Given the description of an element on the screen output the (x, y) to click on. 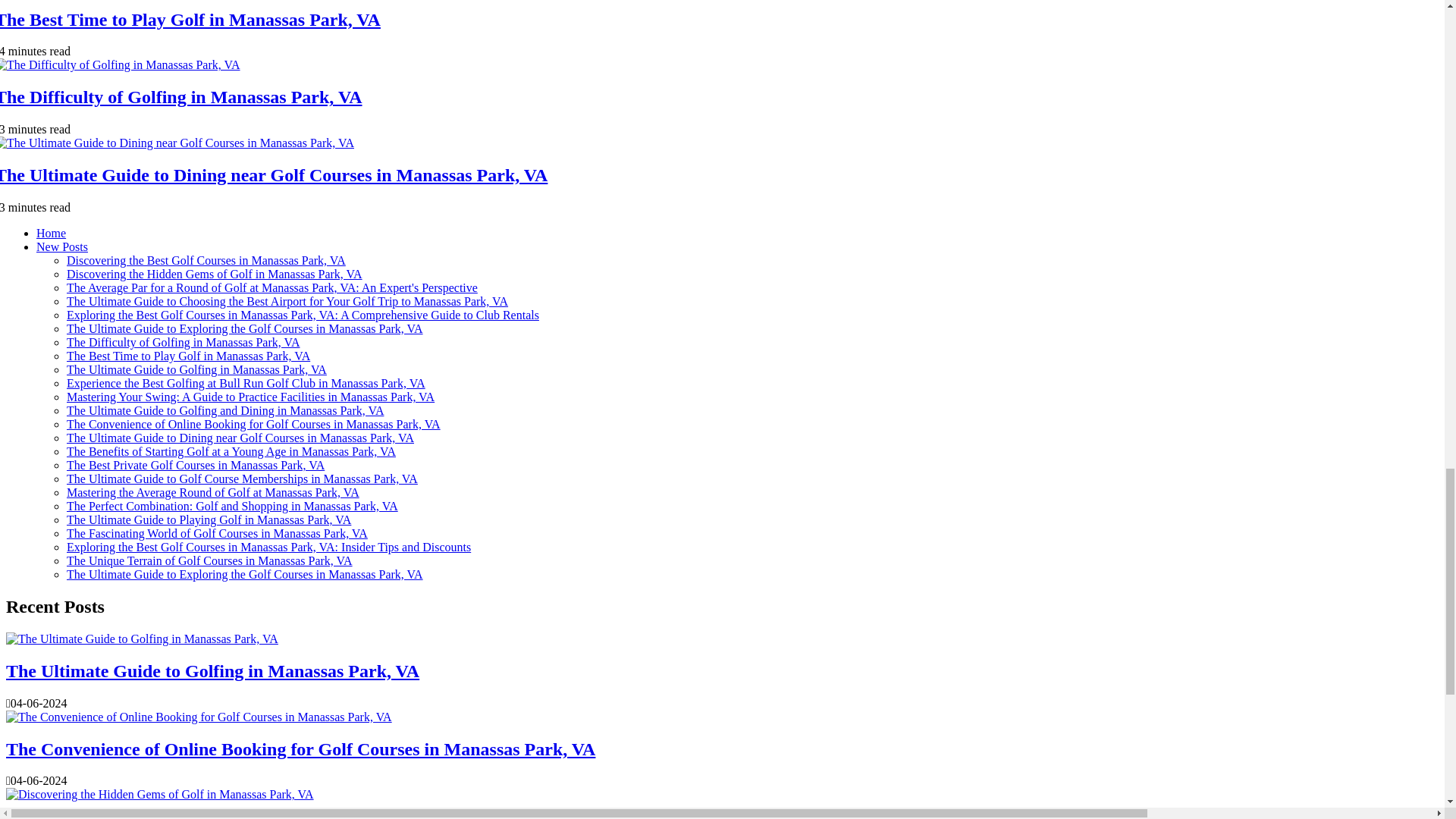
Home (50, 232)
Discovering the Hidden Gems of Golf in Manassas Park, VA (214, 273)
The Difficulty of Golfing in Manassas Park, VA (181, 96)
Discovering the Best Golf Courses in Manassas Park, VA (206, 259)
New Posts (61, 246)
The Best Time to Play Golf in Manassas Park, VA (190, 19)
